Given the description of an element on the screen output the (x, y) to click on. 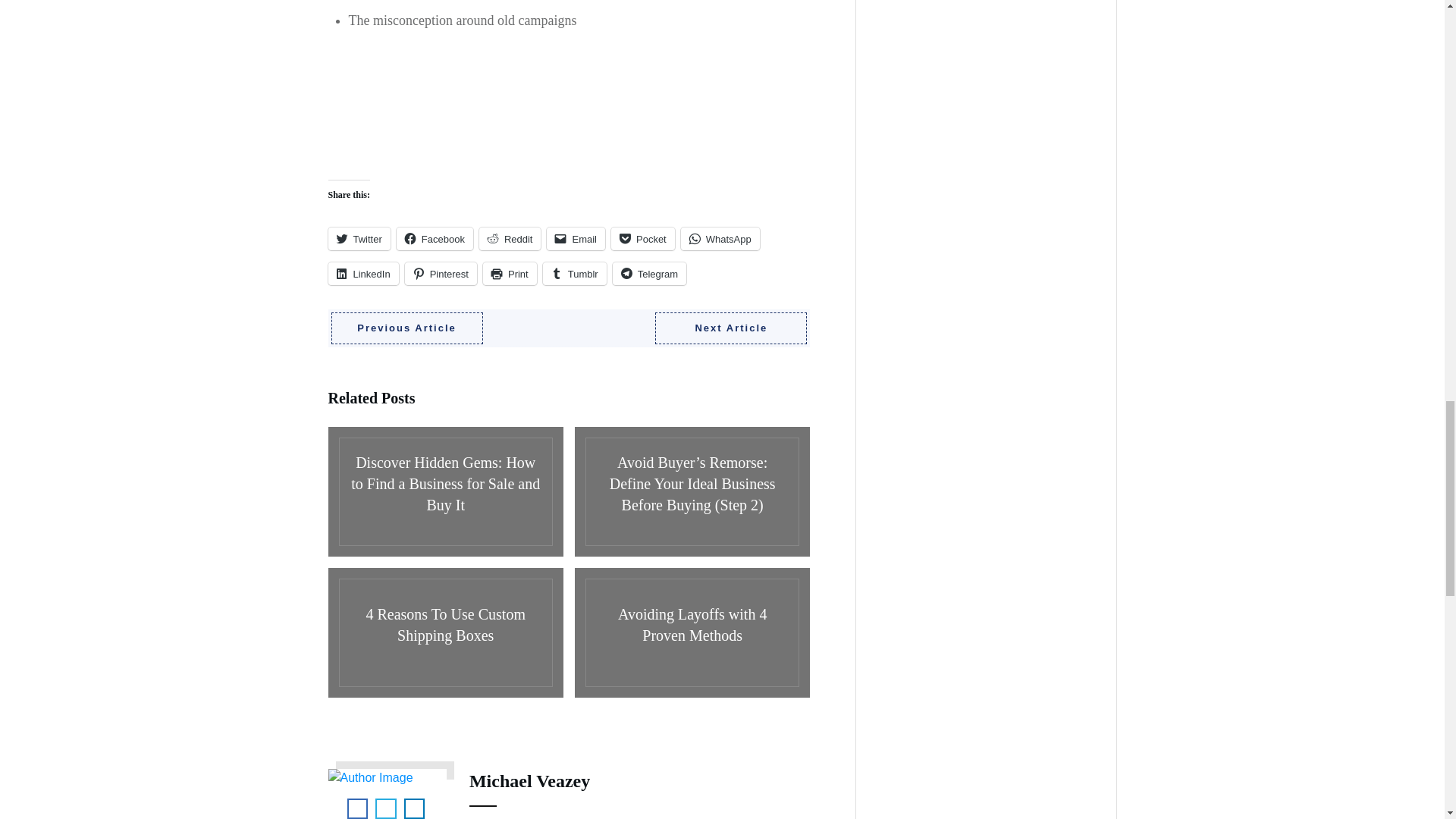
Click to share on Facebook (434, 238)
Pocket (643, 238)
Facebook (434, 238)
Twitter (358, 238)
Telegram (648, 273)
Email (576, 238)
Reddit (510, 238)
Tumblr (575, 273)
Click to share on Twitter (358, 238)
Print (510, 273)
WhatsApp (720, 238)
LinkedIn (362, 273)
Next Article (730, 327)
Pinterest (440, 273)
